Given the description of an element on the screen output the (x, y) to click on. 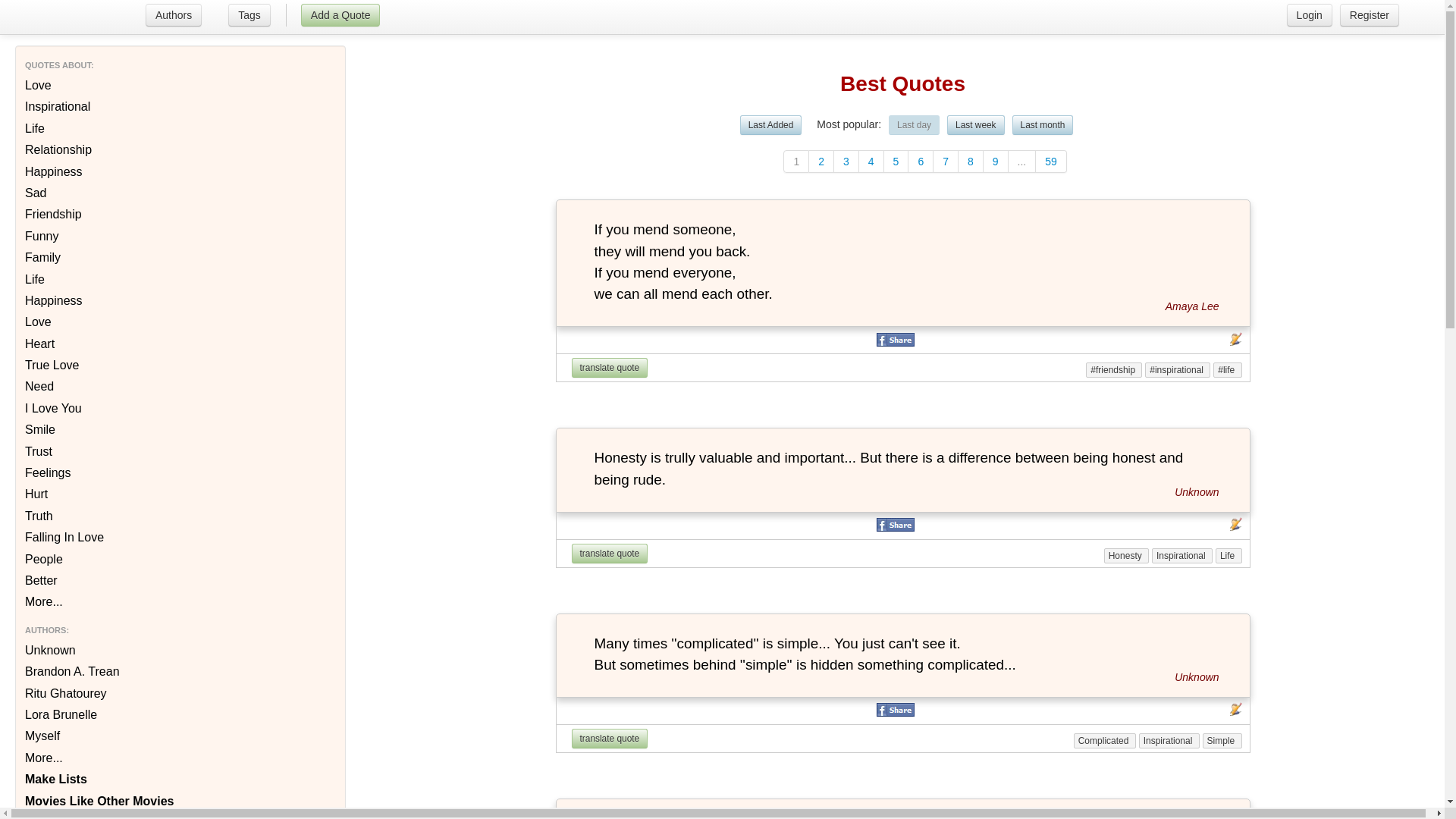
Last week Element type: text (975, 124)
3 Element type: text (846, 161)
5 Element type: text (896, 161)
Authors Element type: text (173, 14)
Honesty  Element type: text (1126, 555)
More... Element type: text (180, 601)
4 Element type: text (871, 161)
Unknown Element type: text (180, 650)
6 Element type: text (920, 161)
Inspirational  Element type: text (1169, 740)
Truth Element type: text (180, 516)
Happiness Element type: text (180, 171)
Complicated  Element type: text (1104, 740)
Lora Brunelle Element type: text (180, 714)
... Element type: text (1022, 161)
Family Element type: text (180, 257)
#inspirational  Element type: text (1177, 369)
More... Element type: text (180, 757)
Register Element type: text (1369, 14)
Brandon A. Trean Element type: text (180, 671)
Feelings Element type: text (180, 472)
I Love You Element type: text (180, 408)
1 Element type: text (796, 161)
Sad Element type: text (180, 192)
Inspirational Element type: text (180, 106)
Ritu Ghatourey Element type: text (180, 693)
Smile Element type: text (180, 429)
Relationship Element type: text (180, 149)
Love Element type: text (180, 321)
#friendship  Element type: text (1113, 369)
Last day Element type: text (913, 124)
Simple  Element type: text (1222, 740)
Happiness Element type: text (180, 300)
Love Element type: text (180, 85)
Need Element type: text (180, 386)
Myself Element type: text (180, 735)
Inspirational  Element type: text (1181, 555)
Life  Element type: text (1228, 555)
Unknown Element type: text (1196, 492)
Trust Element type: text (180, 451)
People Element type: text (180, 559)
7 Element type: text (945, 161)
Add a Quote Element type: text (340, 14)
Funny Element type: text (180, 236)
Friendship Element type: text (180, 214)
Movies Like Other Movies Element type: text (180, 800)
translate quote Element type: text (609, 367)
translate quote Element type: text (609, 553)
Last Added Element type: text (771, 124)
8 Element type: text (970, 161)
Life Element type: text (180, 279)
Last month Element type: text (1042, 124)
Falling In Love Element type: text (180, 537)
Amaya Lee Element type: text (1192, 306)
Heart Element type: text (180, 343)
2 Element type: text (821, 161)
Login Element type: text (1309, 14)
9 Element type: text (995, 161)
True Love Element type: text (180, 365)
Make Lists Element type: text (180, 779)
Unknown Element type: text (1196, 677)
59 Element type: text (1050, 161)
Life Element type: text (180, 128)
#life  Element type: text (1227, 369)
Better Element type: text (180, 580)
Tags Element type: text (249, 14)
Tags Element type: text (249, 17)
translate quote Element type: text (609, 738)
Authors Element type: text (171, 17)
Hurt Element type: text (180, 494)
